Given the description of an element on the screen output the (x, y) to click on. 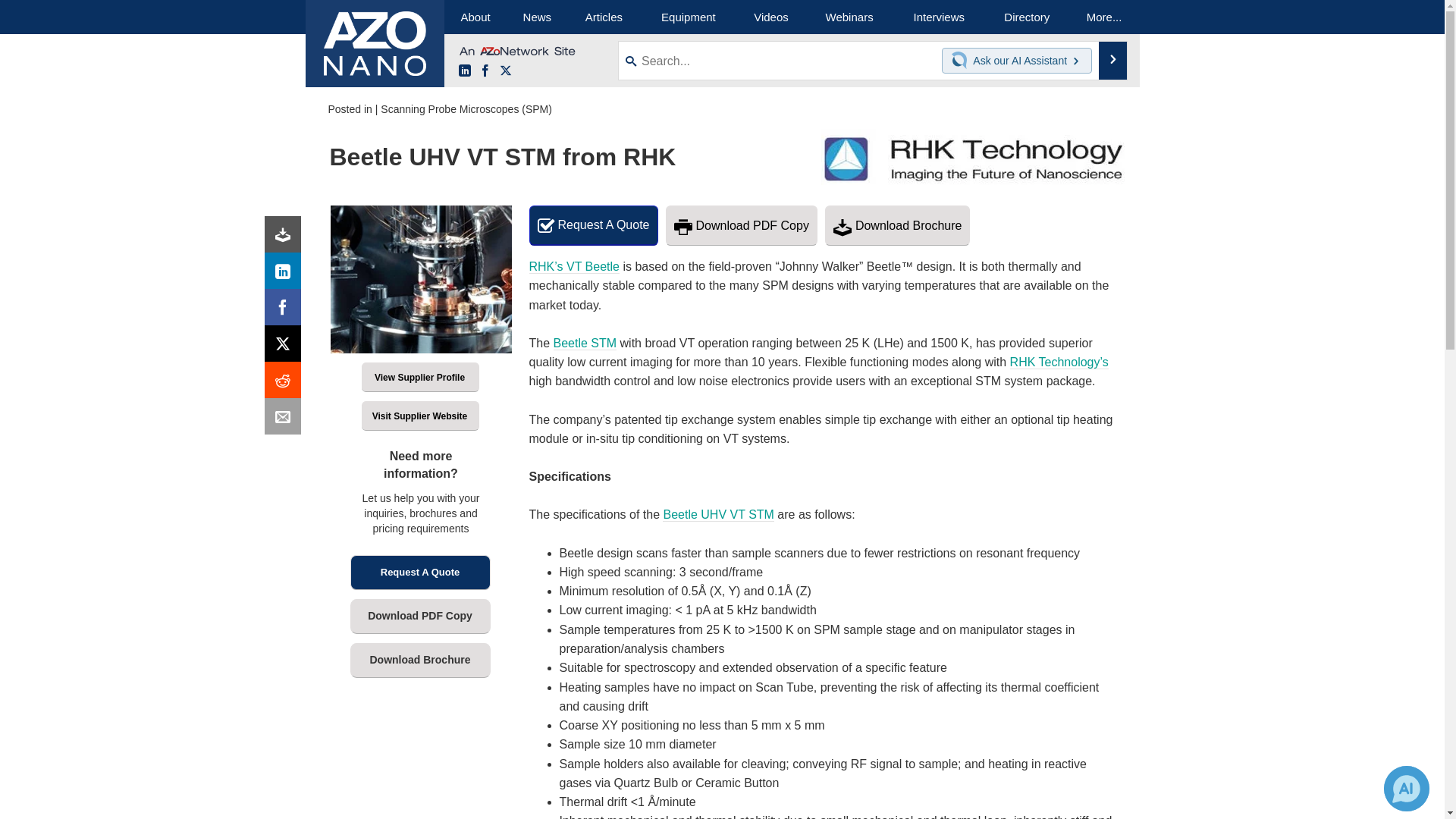
Facebook (285, 311)
Email (285, 420)
X (285, 348)
More... (1104, 17)
Webinars (849, 17)
News (536, 17)
LinkedIn (464, 71)
Reddit (285, 384)
LinkedIn (285, 275)
Videos (770, 17)
